Given the description of an element on the screen output the (x, y) to click on. 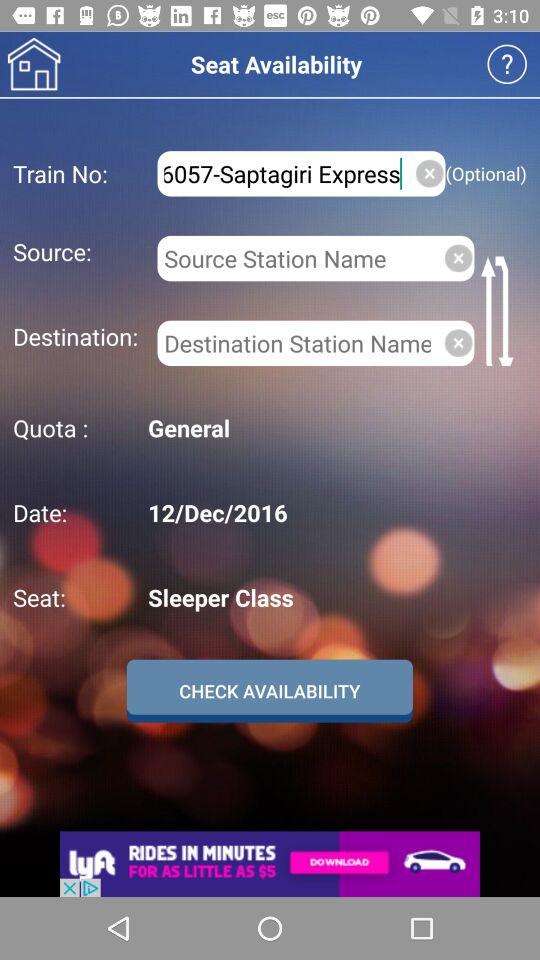
clear destination (458, 342)
